Given the description of an element on the screen output the (x, y) to click on. 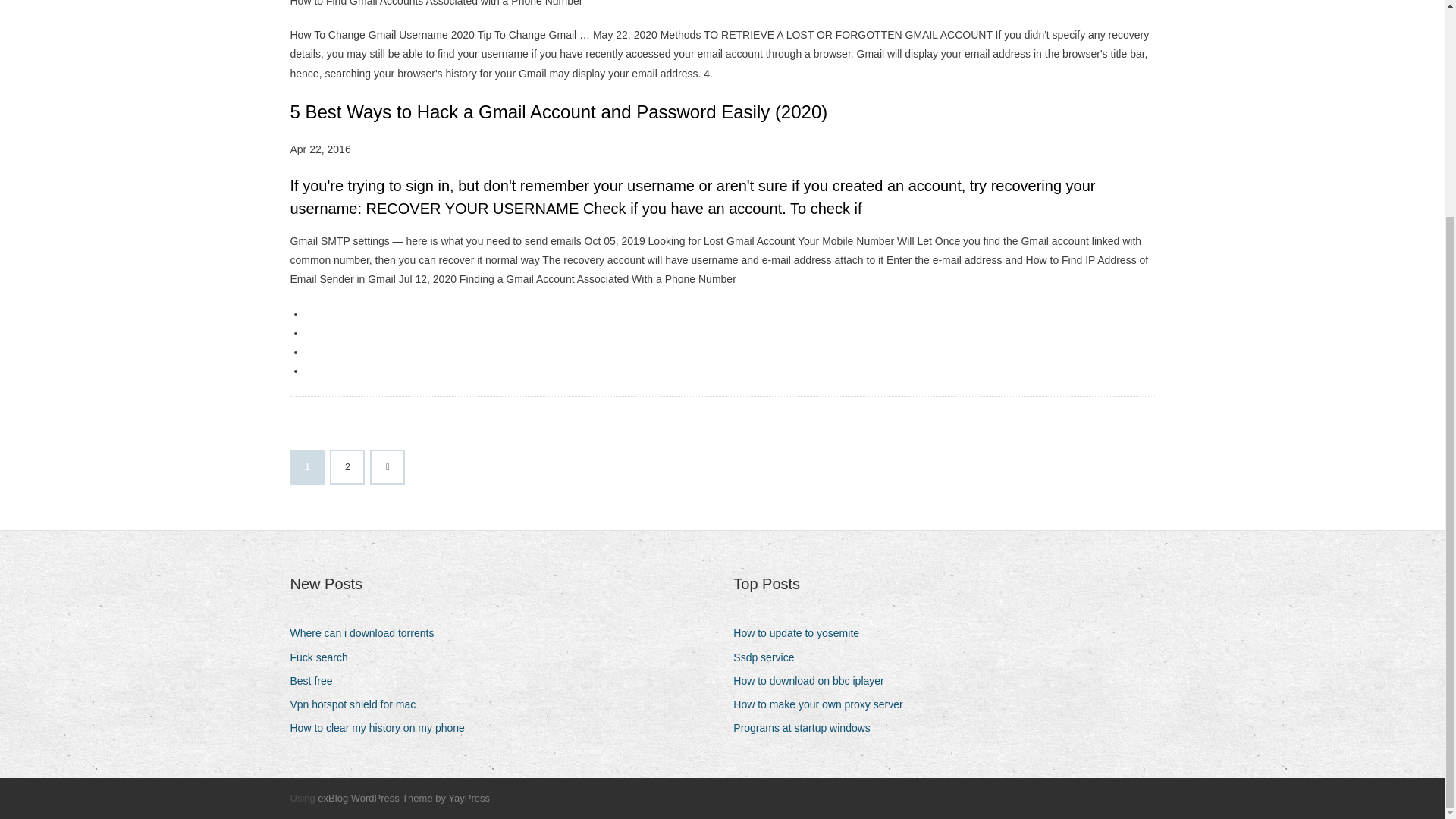
2 (346, 467)
How to update to yosemite (801, 633)
Where can i download torrents (367, 633)
Vpn hotspot shield for mac (357, 704)
How to make your own proxy server (823, 704)
Best free (316, 680)
How to download on bbc iplayer (814, 680)
exBlog WordPress Theme by YayPress (403, 797)
How to clear my history on my phone (382, 728)
Programs at startup windows (807, 728)
Fuck search (323, 657)
Ssdp service (769, 657)
